Given the description of an element on the screen output the (x, y) to click on. 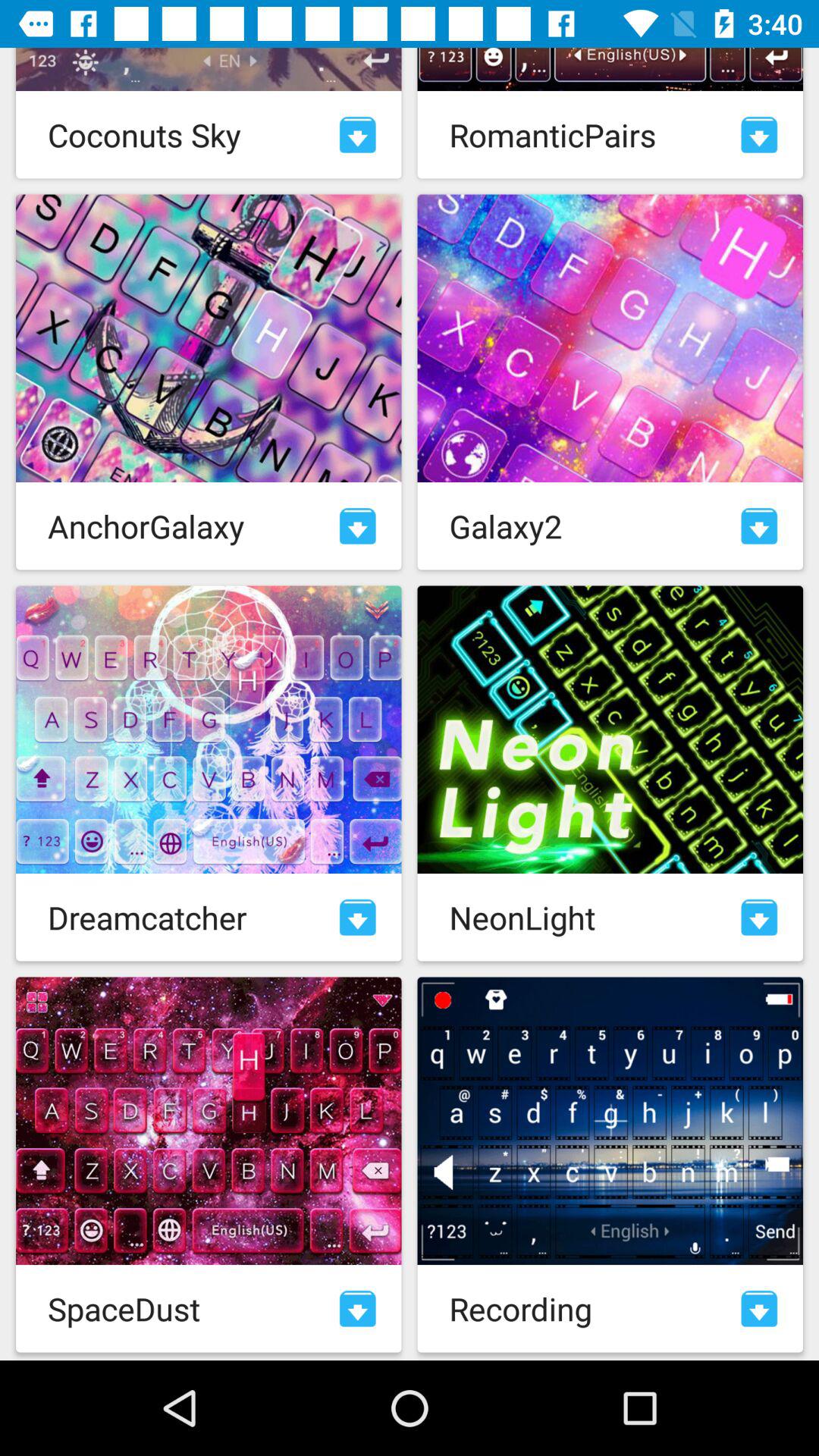
download neonlight keys (759, 917)
